Given the description of an element on the screen output the (x, y) to click on. 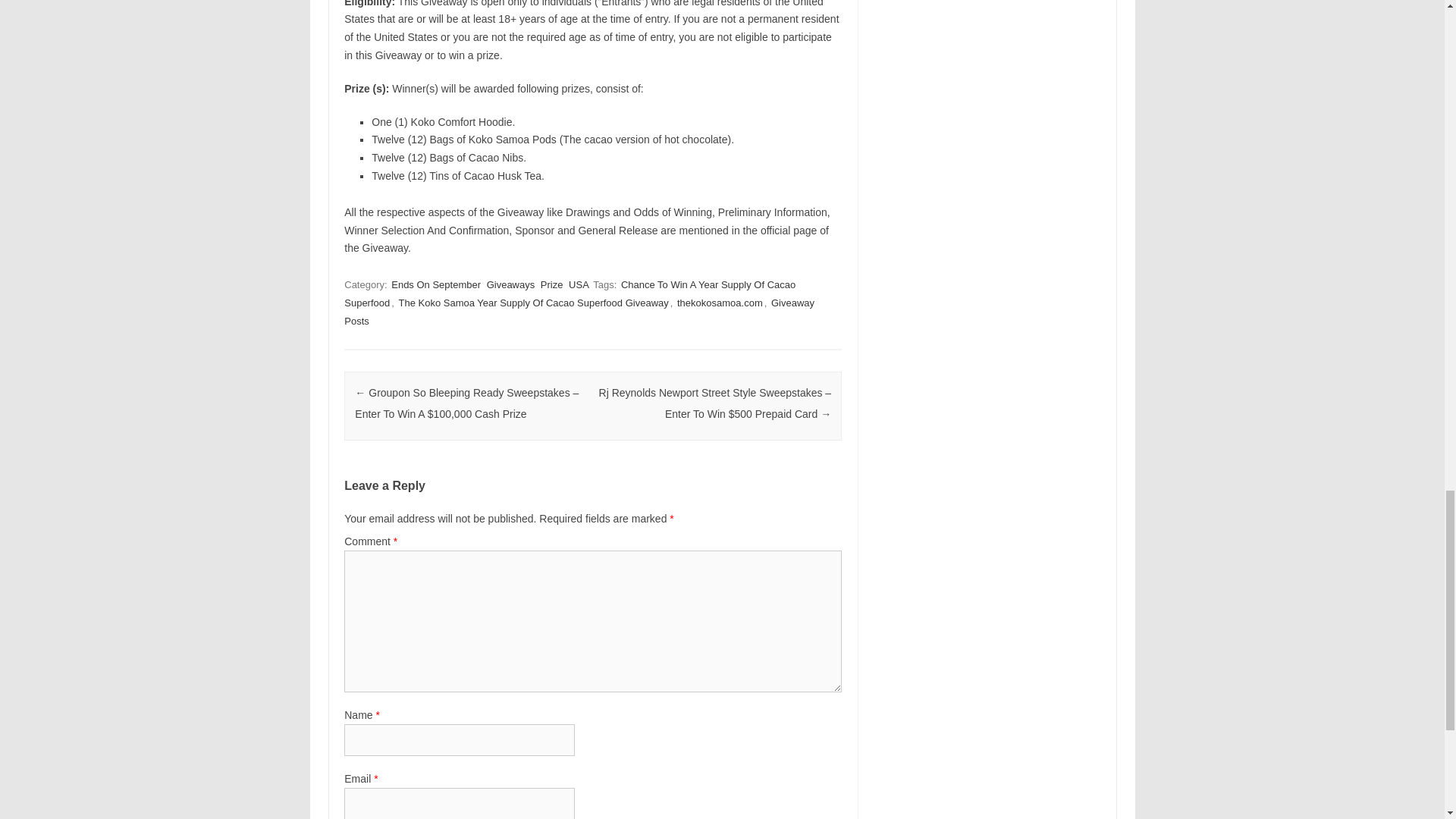
Giveaways (510, 284)
Giveaway Posts (578, 311)
thekokosamoa.com (719, 302)
Chance To Win A Year Supply Of Cacao Superfood (568, 293)
The Koko Samoa Year Supply Of Cacao Superfood Giveaway (532, 302)
Prize (551, 284)
Ends On September (435, 284)
USA (579, 284)
